Given the description of an element on the screen output the (x, y) to click on. 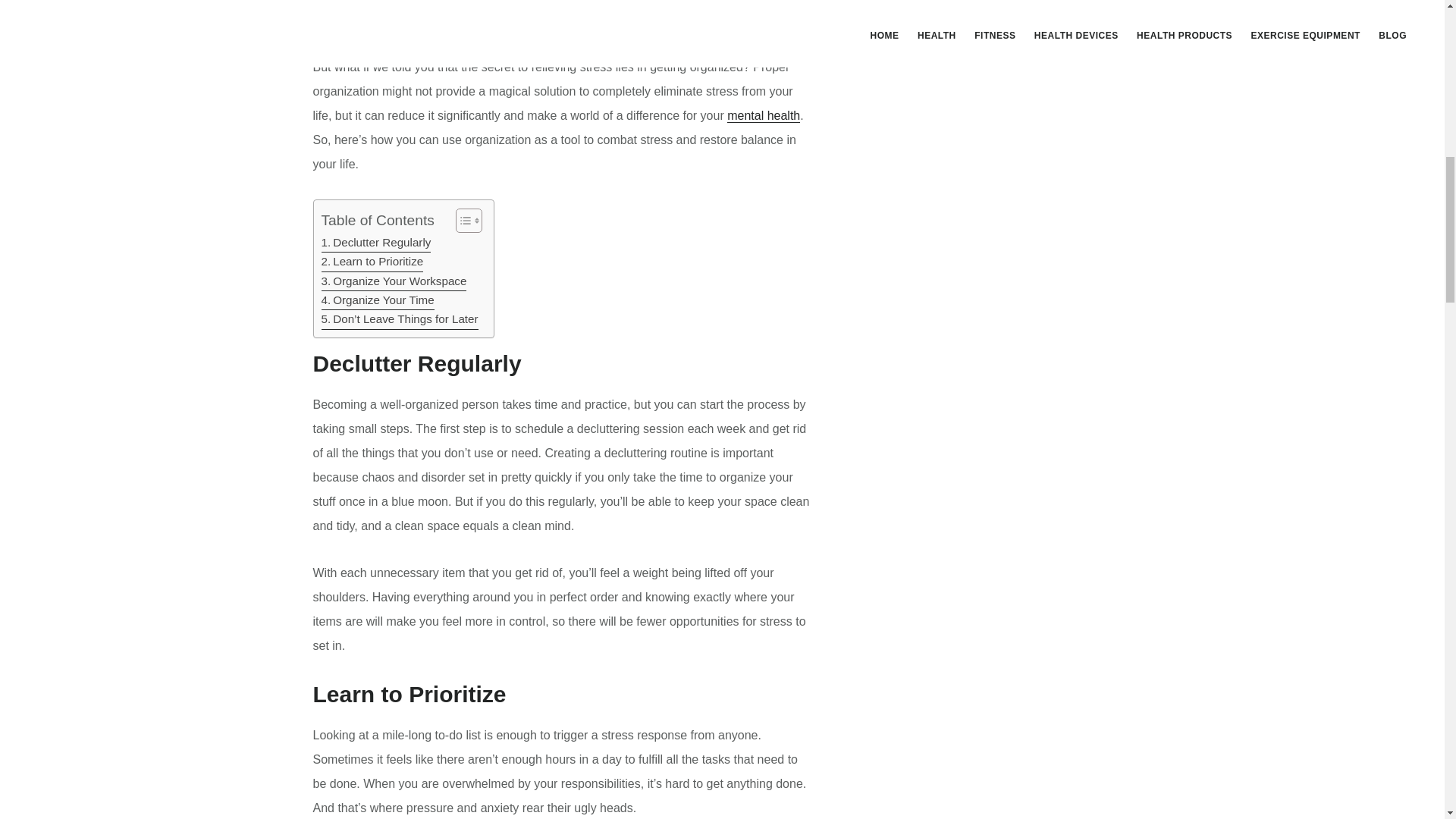
Learn to Prioritize (372, 261)
Learn to Prioritize (372, 261)
Organize Your Workspace (394, 281)
mental health (762, 115)
Organize Your Workspace (394, 281)
Declutter Regularly (375, 242)
Organize Your Time (377, 300)
Declutter Regularly (375, 242)
Organize Your Time (377, 300)
